Given the description of an element on the screen output the (x, y) to click on. 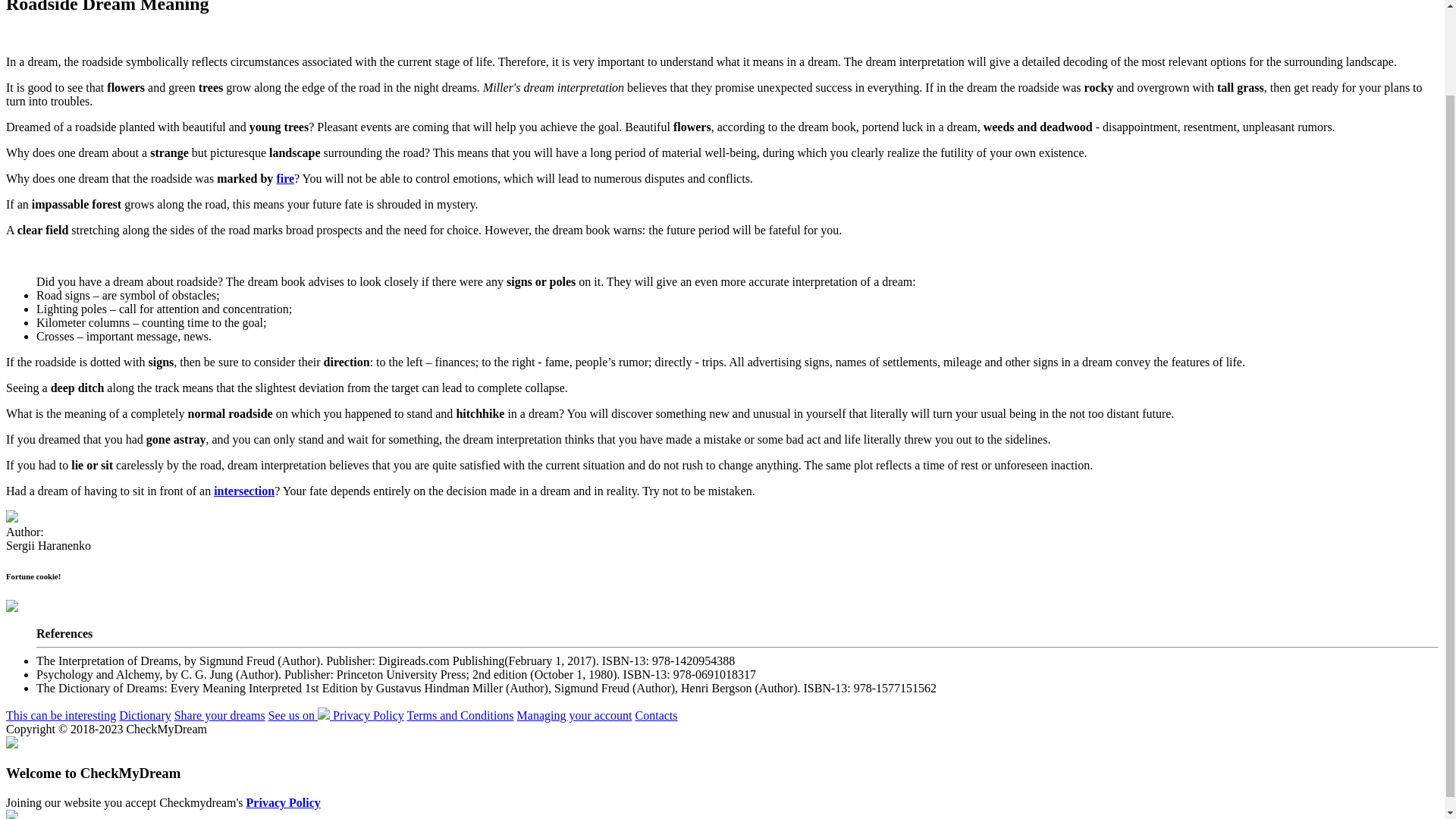
intersection (244, 490)
This can be interesting (60, 715)
fire (285, 178)
